Given the description of an element on the screen output the (x, y) to click on. 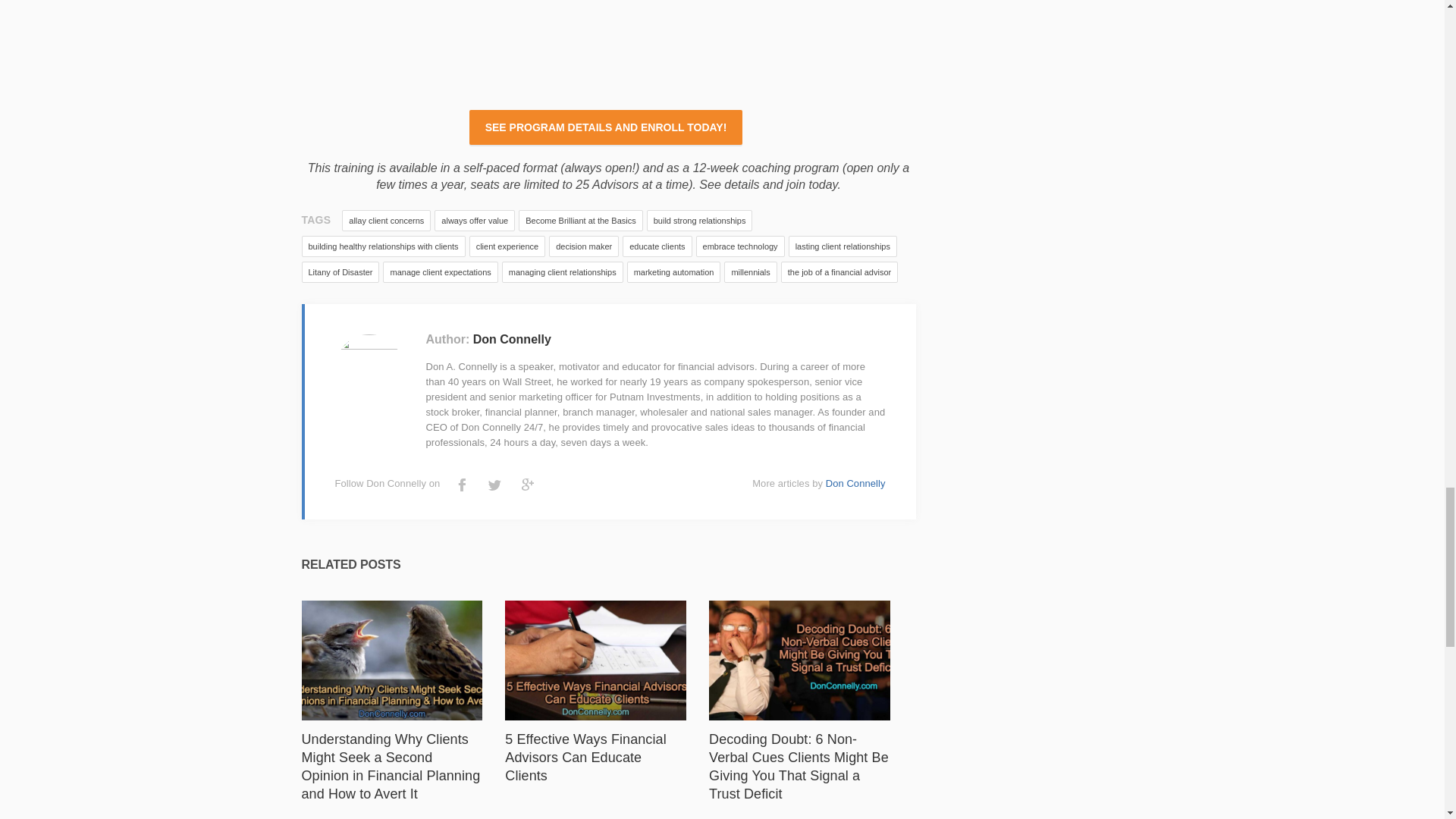
educate clients (657, 246)
always offer value (474, 219)
SEE PROGRAM DETAILS AND ENROLL TODAY! (605, 126)
Become Brilliant at the Basics (580, 219)
Posts by Don Connelly (855, 482)
embrace technology (739, 246)
lasting client relationships (842, 246)
building healthy relationships with clients (383, 246)
build strong relationships (699, 219)
allay client concerns (386, 219)
decision maker (583, 246)
Litany of Disaster (340, 271)
client experience (507, 246)
